Given the description of an element on the screen output the (x, y) to click on. 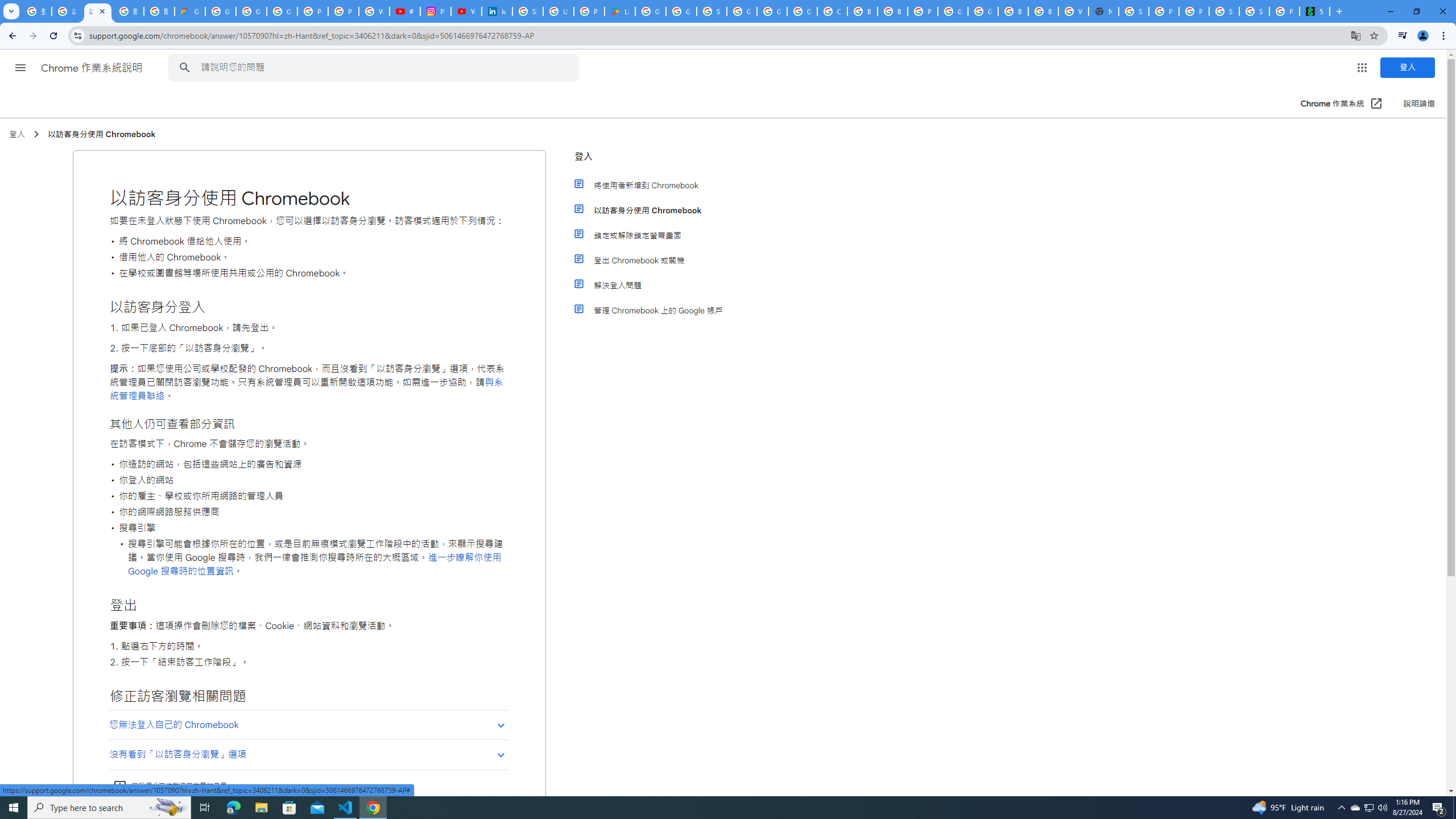
Privacy Help Center - Policies Help (343, 11)
Sign in - Google Accounts (527, 11)
Browse Chrome as a guest - Computer - Google Chrome Help (862, 11)
